Given the description of an element on the screen output the (x, y) to click on. 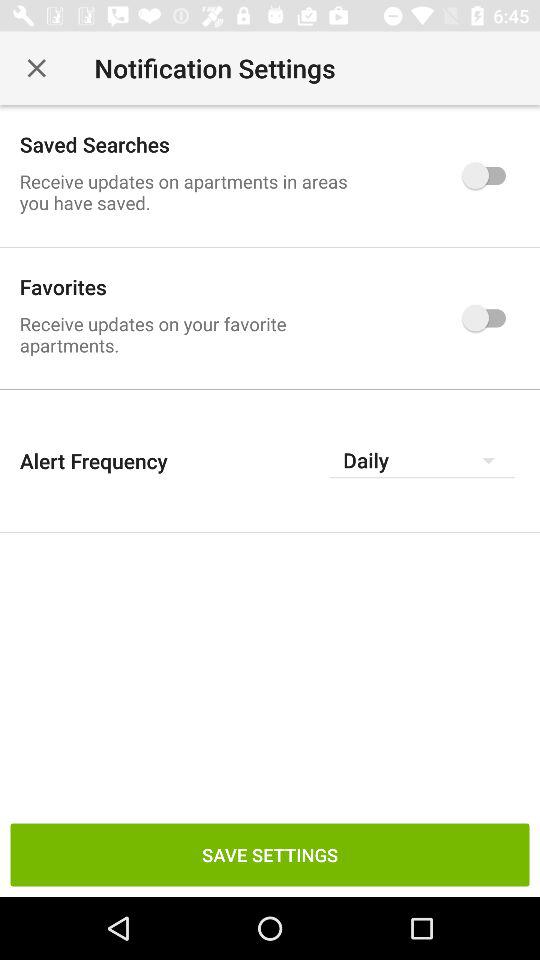
turn on (488, 318)
